Given the description of an element on the screen output the (x, y) to click on. 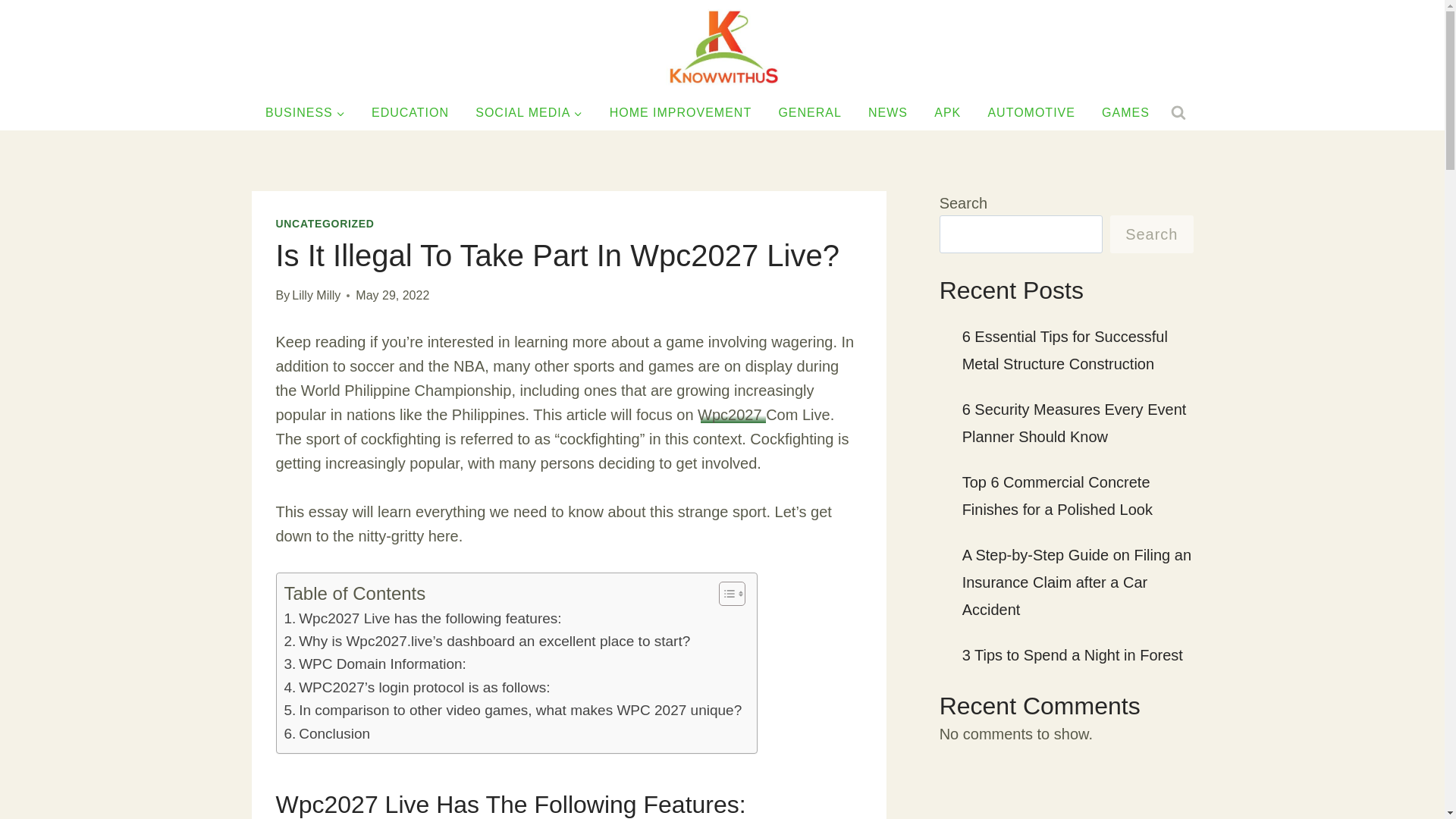
Lilly Milly (316, 295)
APK (947, 113)
UNCATEGORIZED (325, 223)
GAMES (1126, 113)
Wpc2027 (731, 414)
Wpc2027 Live has the following features: (421, 618)
Conclusion (326, 733)
Wpc2027 Live has the following features: (421, 618)
WPC Domain Information: (374, 663)
